Given the description of an element on the screen output the (x, y) to click on. 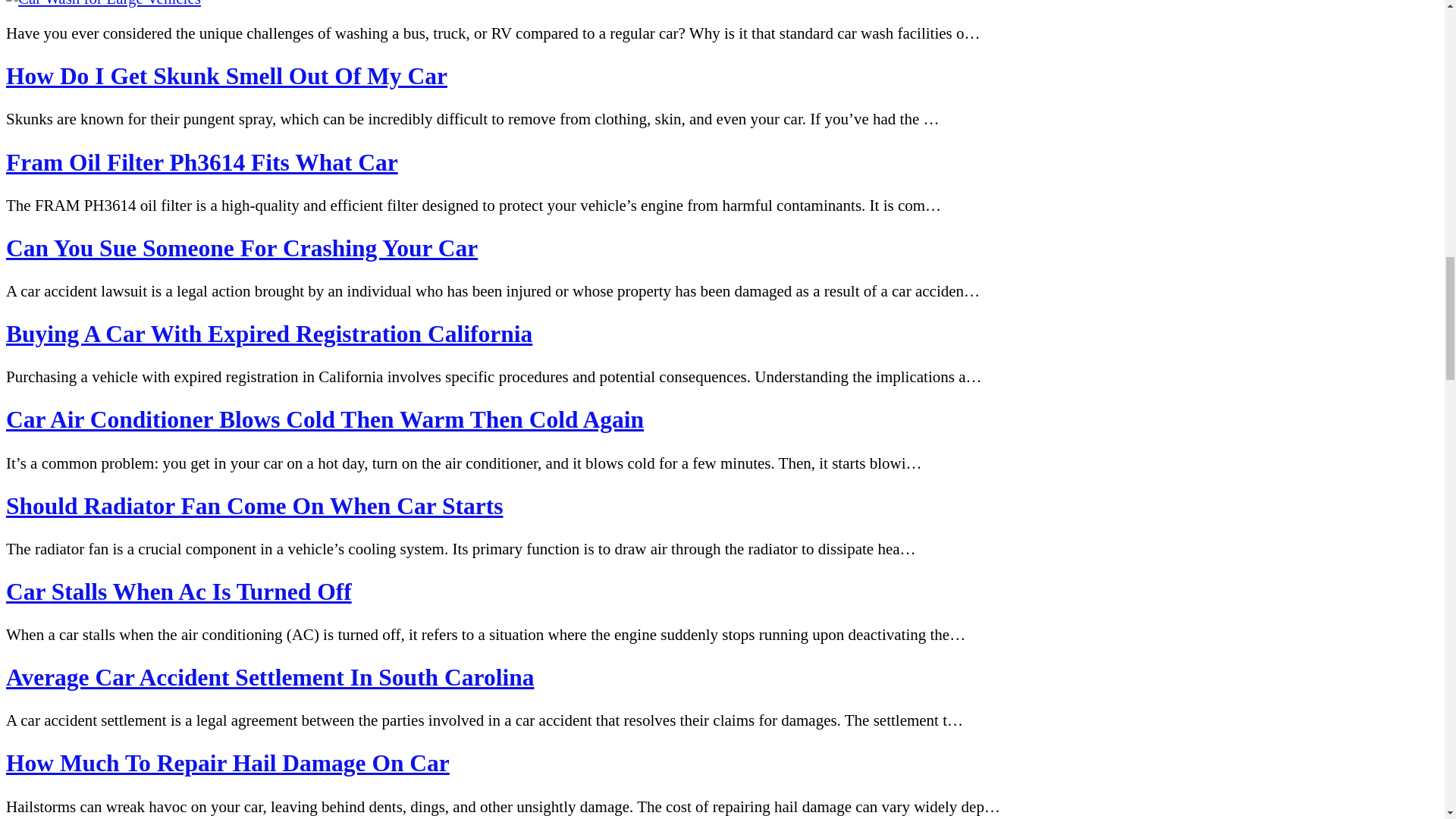
Buying A Car With Expired Registration California (268, 334)
Fram Oil Filter Ph3614 Fits What Car (201, 162)
Average Car Accident Settlement In South Carolina (269, 677)
Car Air Conditioner Blows Cold Then Warm Then Cold Again (324, 419)
Should Radiator Fan Come On When Car Starts (253, 506)
How Do I Get Skunk Smell Out Of My Car (225, 76)
Car Stalls When Ac Is Turned Off (178, 591)
Can You Sue Someone For Crashing Your Car (241, 248)
